Given the description of an element on the screen output the (x, y) to click on. 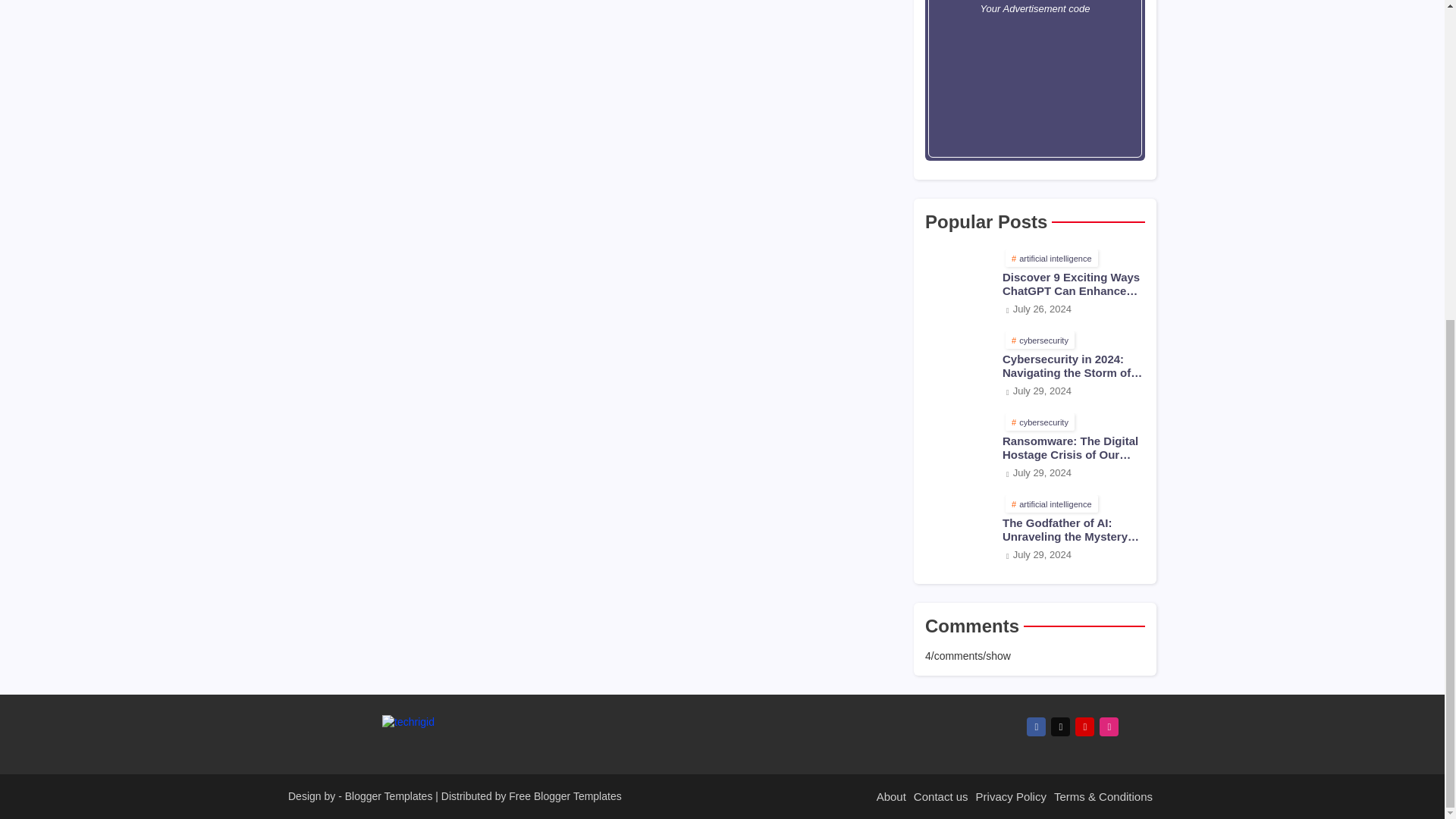
Privacy Policy (1010, 796)
Your Advertisement code (1034, 80)
Contact us (941, 796)
Ransomware: The Digital Hostage Crisis of Our Time (958, 447)
Ransomware: The Digital Hostage Crisis of Our Time (1073, 447)
